Given the description of an element on the screen output the (x, y) to click on. 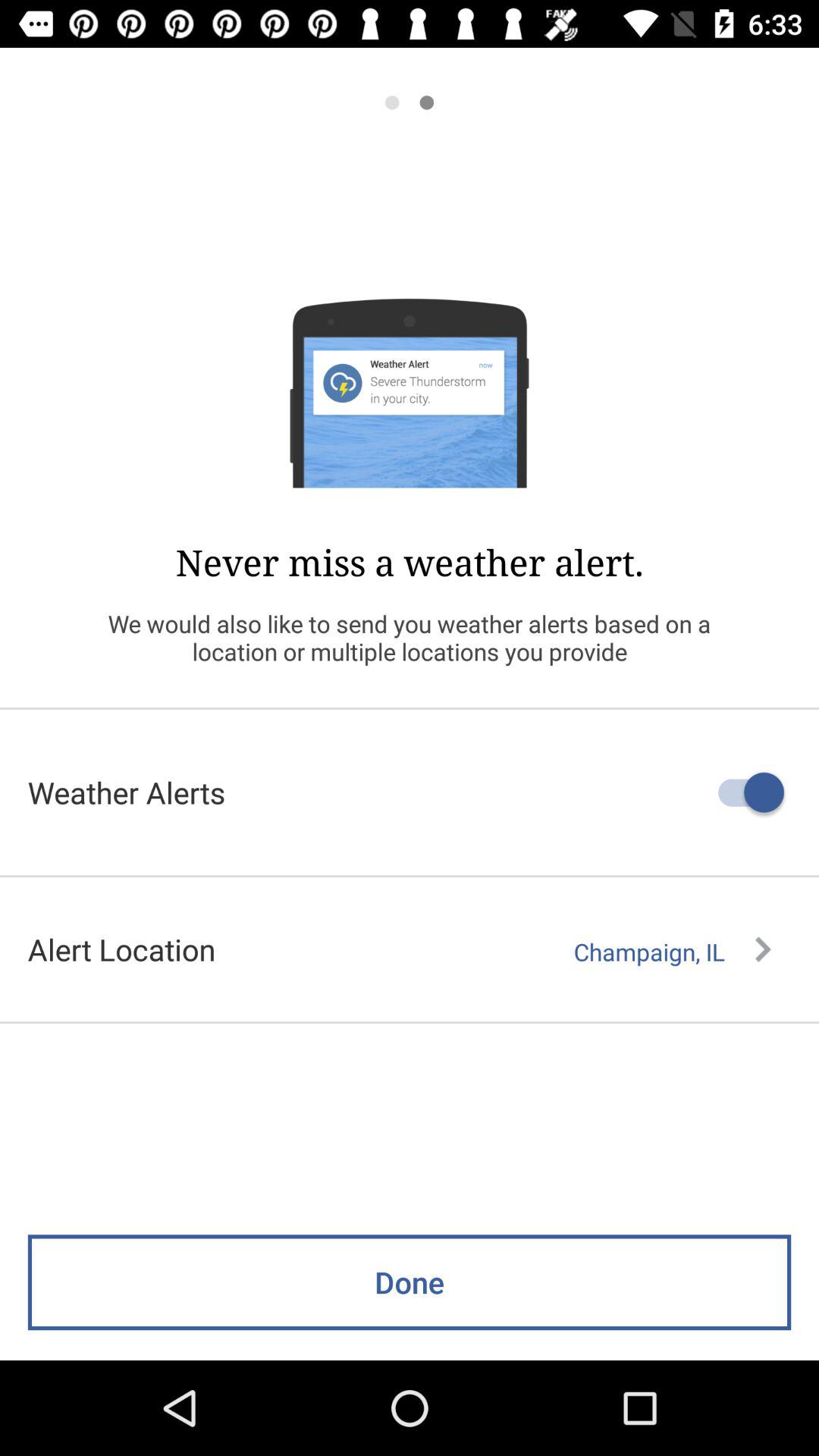
press the done (409, 1282)
